Given the description of an element on the screen output the (x, y) to click on. 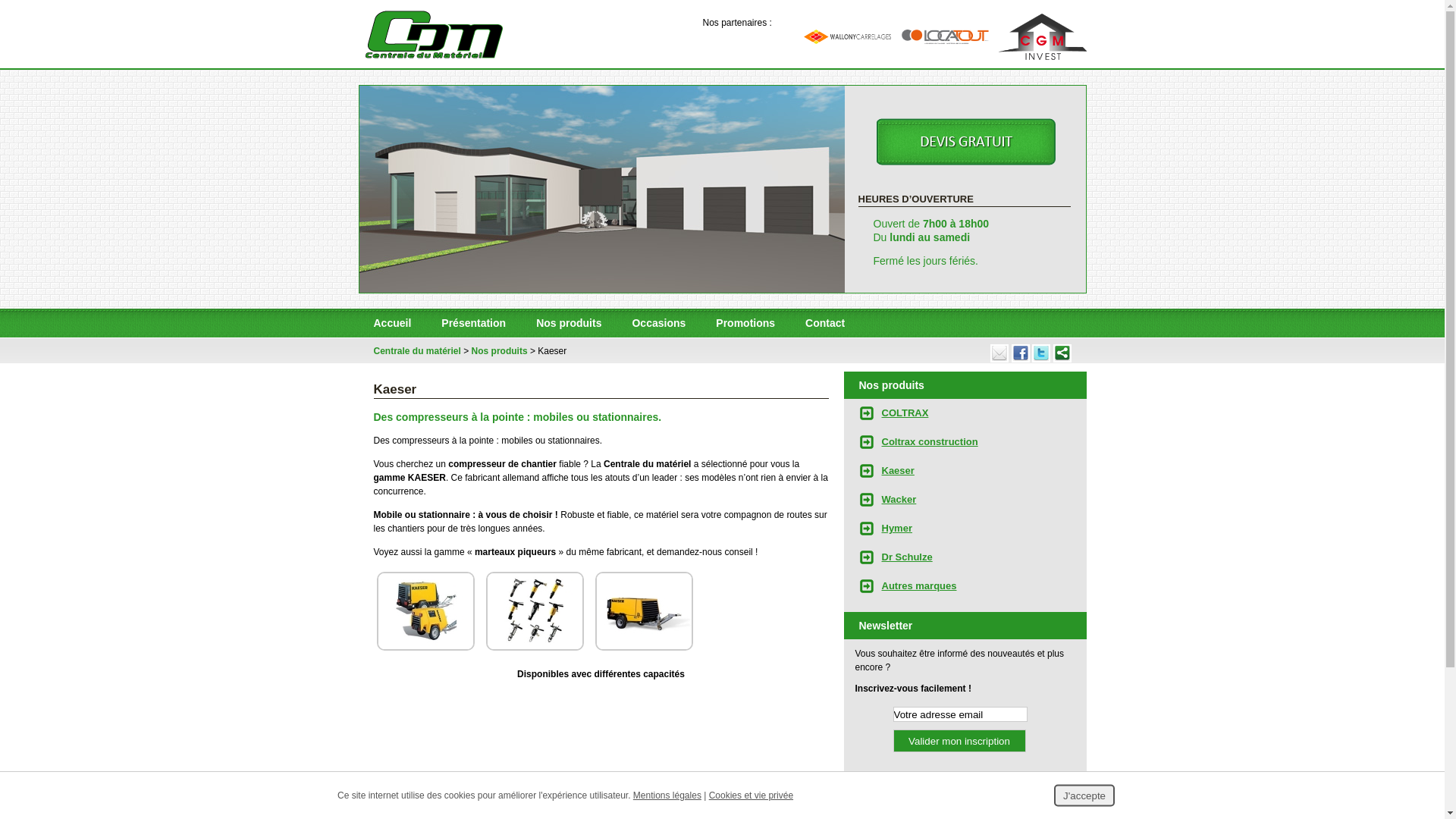
Venez visiter le site de CGM invest Element type: hover (1041, 36)
Venez visiter le site de Locatout Element type: hover (944, 36)
Nos produits Element type: text (568, 322)
Coltrax construction Element type: text (964, 441)
Dr Schulze Element type: text (964, 556)
Promotions Element type: text (745, 322)
Nos produits Element type: text (499, 350)
Wacker Element type: text (964, 499)
Hymer Element type: text (964, 528)
Occasions Element type: text (658, 322)
Kaezer Element type: hover (427, 647)
Nos produits Element type: text (890, 385)
Contactez-nous Element type: hover (963, 169)
Autres marques Element type: text (964, 585)
Kaezer Element type: hover (645, 647)
COLTRAX Element type: text (964, 412)
Valider mon inscription Element type: text (959, 740)
Kaezer Element type: hover (536, 647)
Accueil Element type: text (391, 322)
Contact Element type: text (824, 322)
Venez visiter le site de Wallony carrelages Element type: hover (847, 36)
Kaeser Element type: text (964, 470)
